Given the description of an element on the screen output the (x, y) to click on. 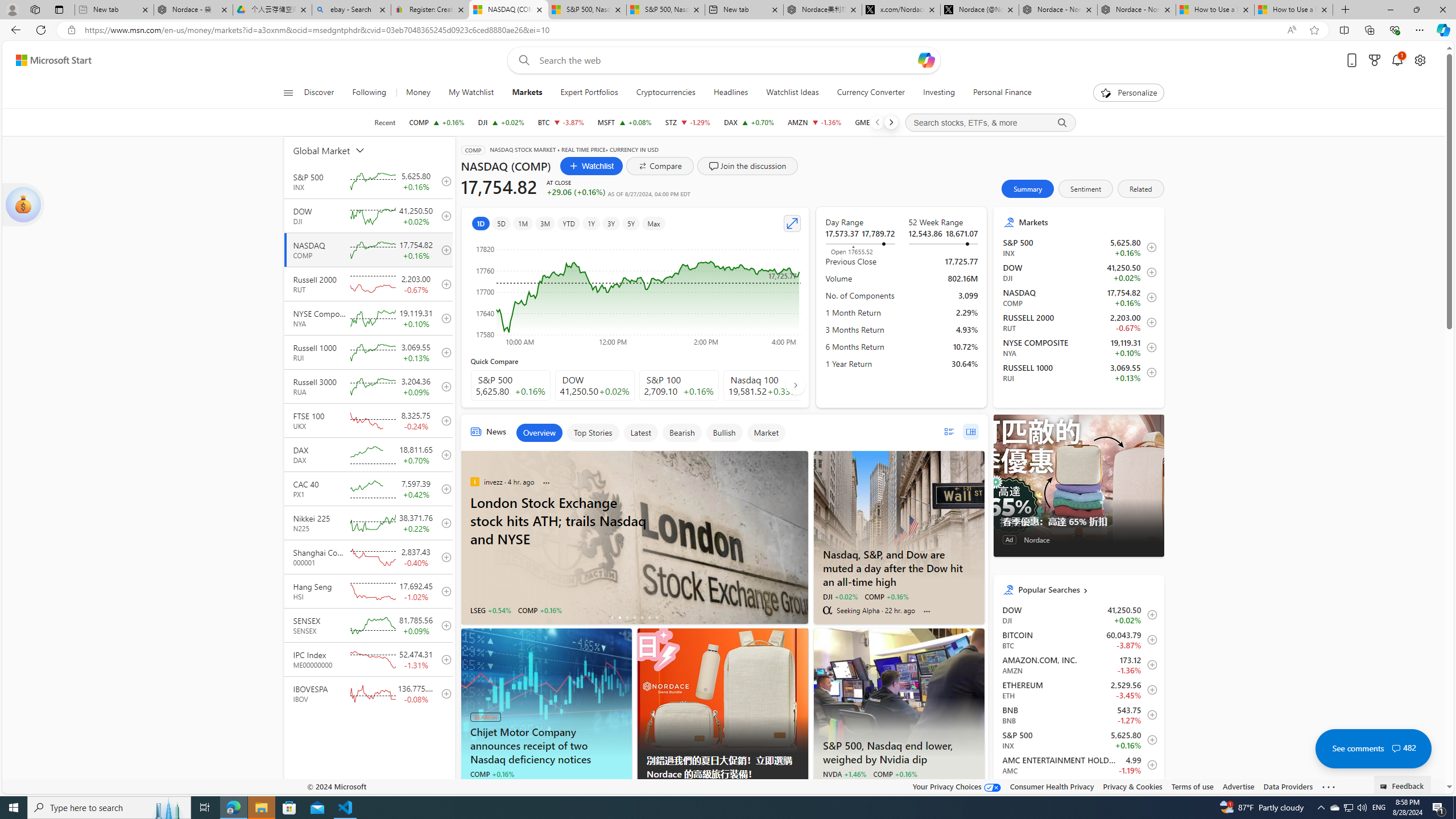
Open settings (1420, 60)
My Watchlist (470, 92)
Notifications (1397, 60)
S&P 500, Nasdaq end lower, weighed by Nvidia dip - Reuters (898, 692)
Headlines (730, 92)
Privacy & Cookies (1131, 785)
